Given the description of an element on the screen output the (x, y) to click on. 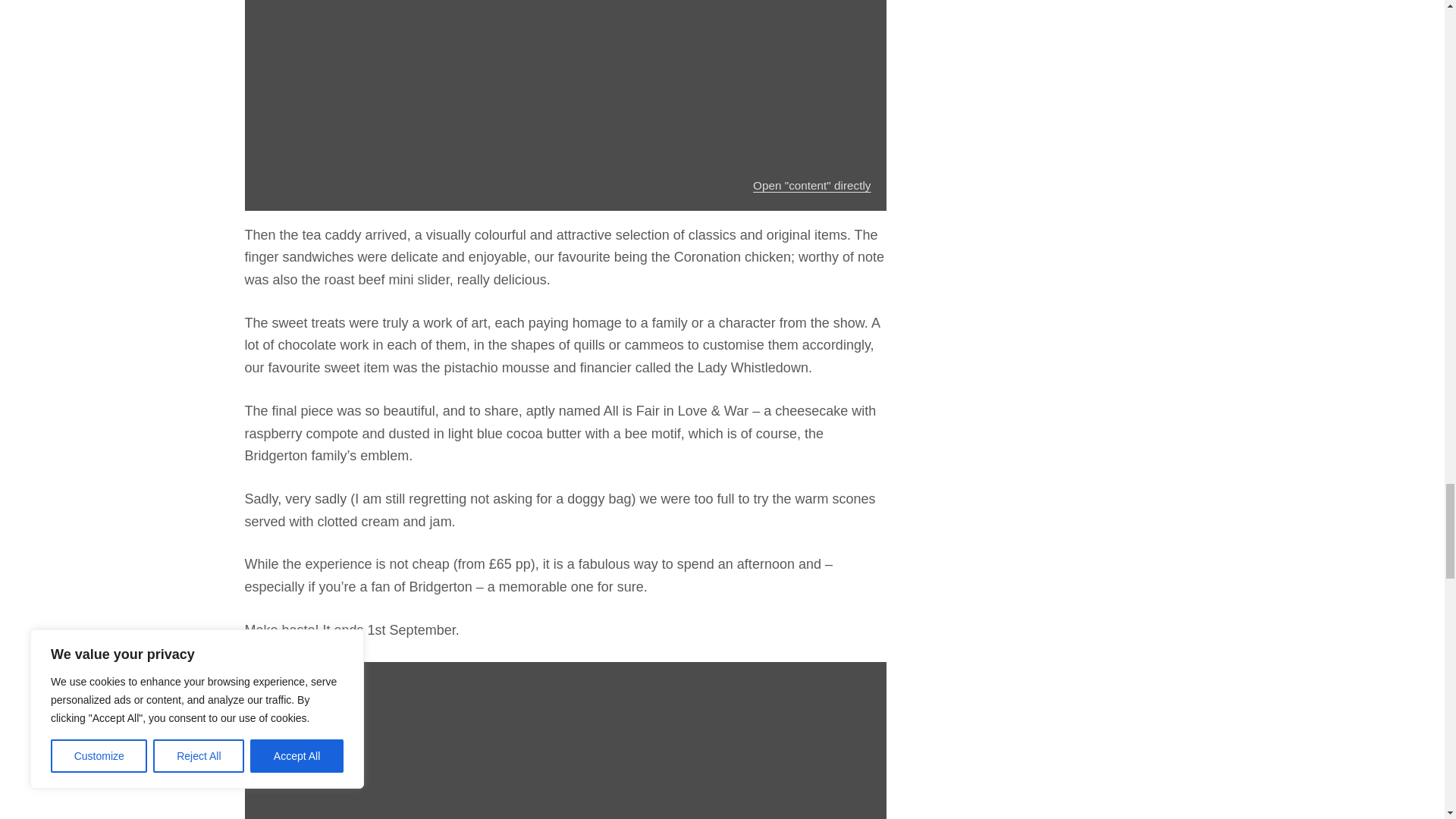
Open "content" directly (811, 185)
